Given the description of an element on the screen output the (x, y) to click on. 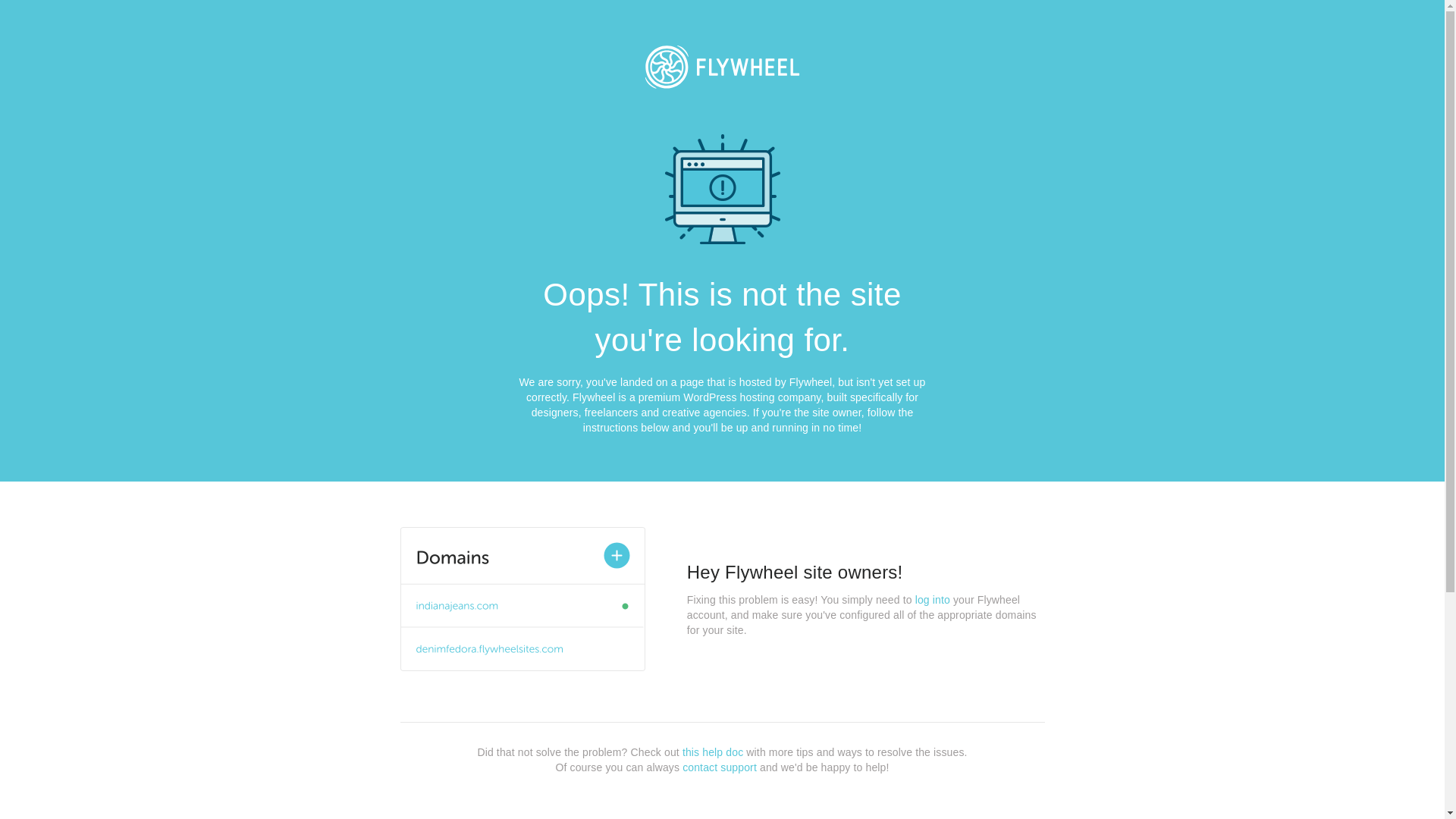
this help doc (712, 752)
log into (932, 599)
contact support (719, 767)
